Given the description of an element on the screen output the (x, y) to click on. 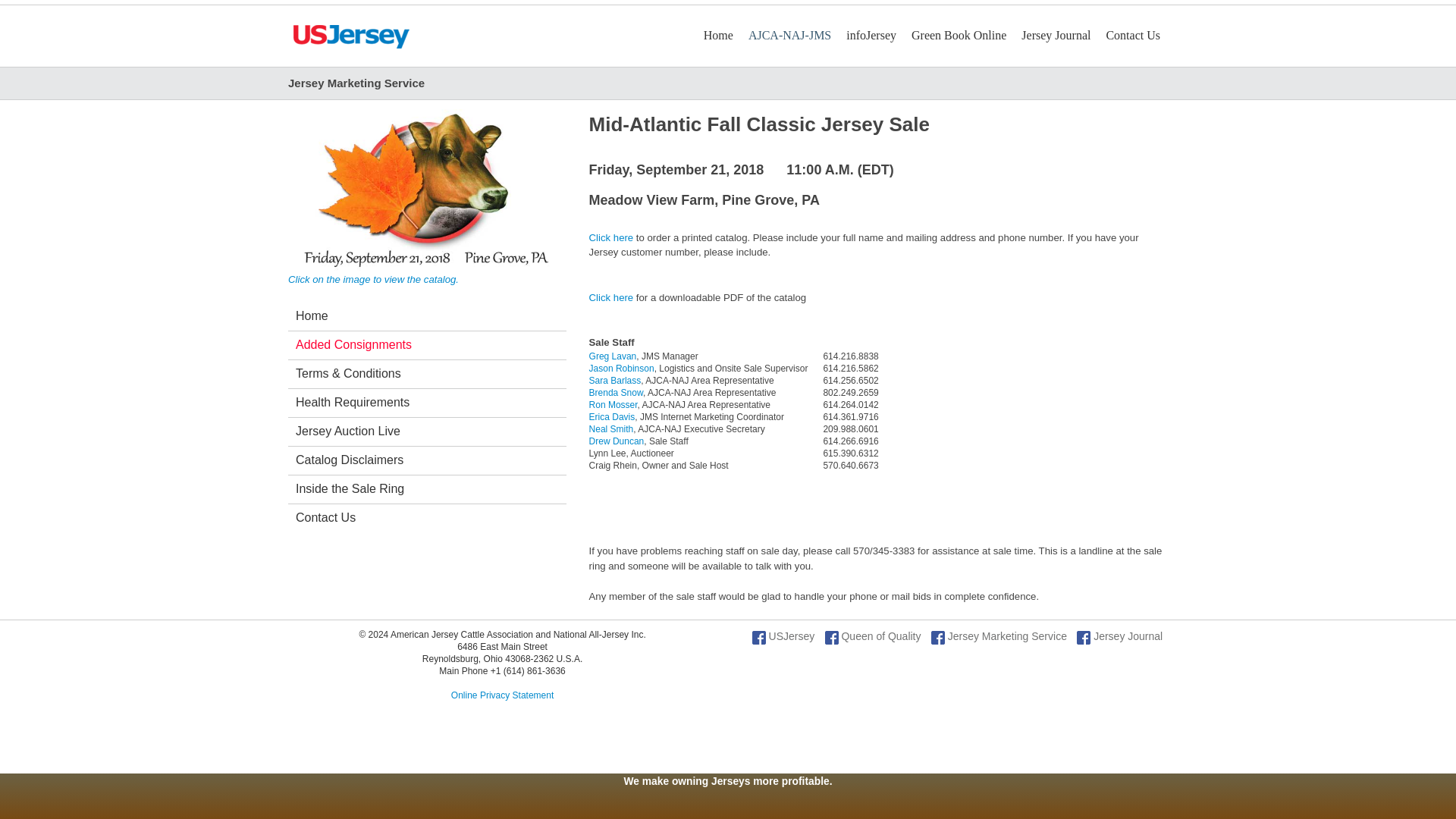
Click on image for Mid-Atlantic Fall Classic Sale catalog (427, 189)
AJCA-NAJ-JMS (789, 35)
